Given the description of an element on the screen output the (x, y) to click on. 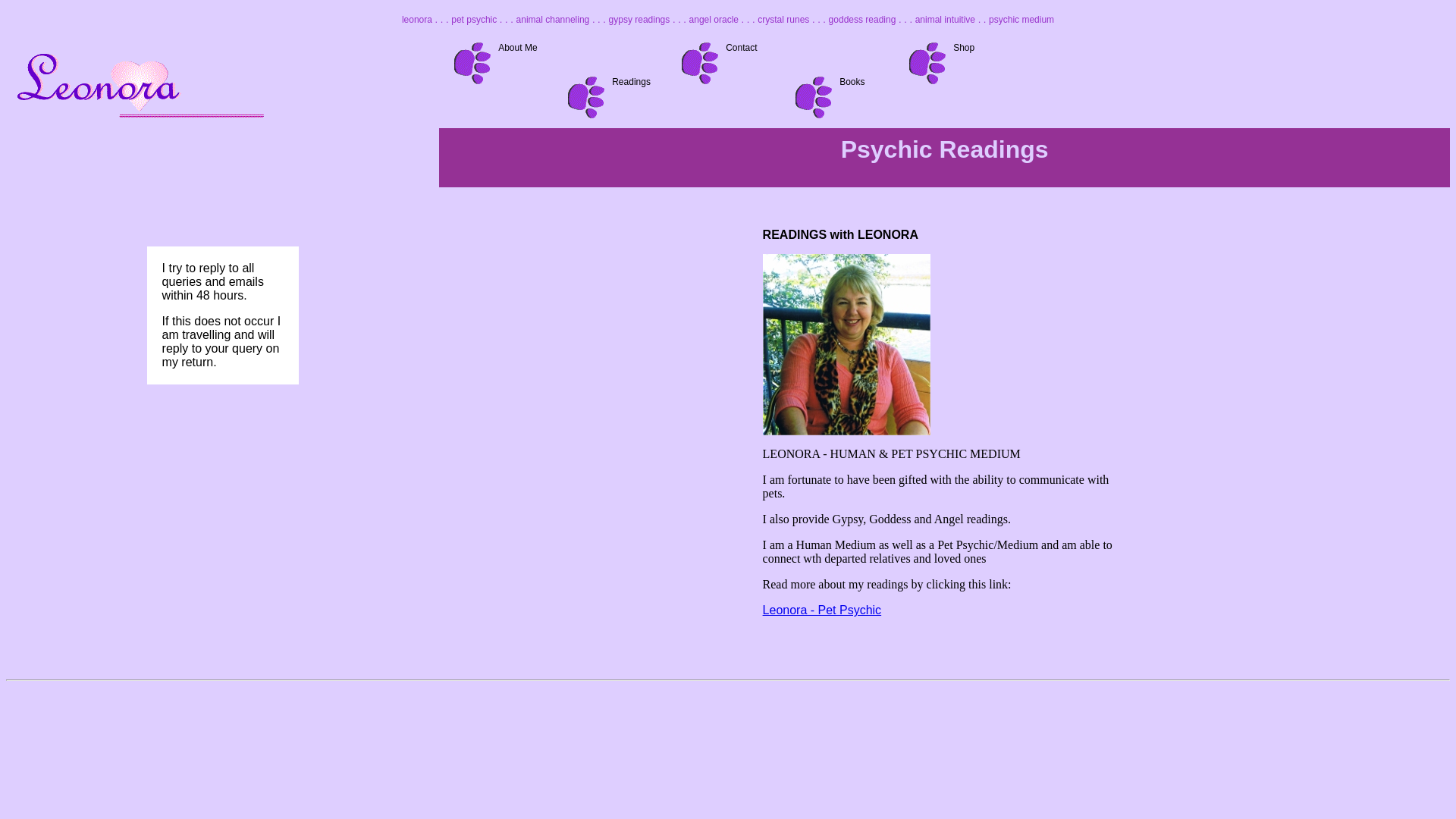
pet psychic Element type: text (473, 19)
About Me Element type: text (517, 47)
gypsy readings Element type: text (639, 19)
psychic medium Element type: text (1021, 19)
animal intuitive Element type: text (945, 19)
Shop Element type: text (963, 47)
animal channeling Element type: text (552, 19)
Books Element type: text (851, 81)
Leonora - Pet Psychic Element type: text (821, 609)
Readings Element type: text (630, 81)
leonora Element type: text (416, 19)
Contact Element type: text (740, 47)
angel oracle Element type: text (713, 19)
crystal runes Element type: text (783, 19)
goddess reading Element type: text (862, 19)
